Given the description of an element on the screen output the (x, y) to click on. 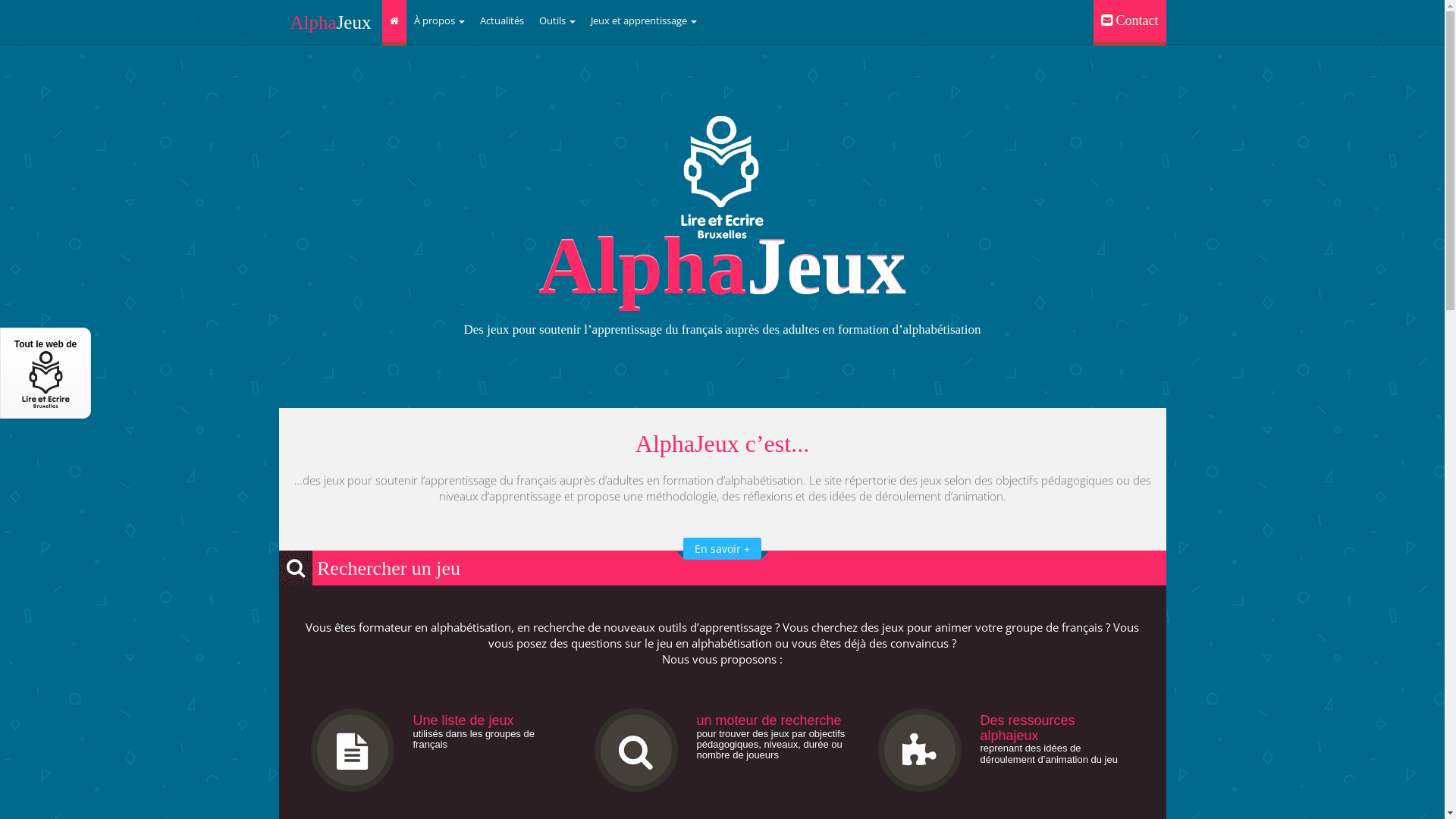
Accueil Element type: hover (394, 22)
Contact Element type: text (1129, 22)
En savoir + Element type: text (722, 548)
Tout le web de Element type: text (45, 372)
AlphaJeux Element type: text (330, 20)
Outils Element type: text (557, 20)
Jeux et apprentissage Element type: text (643, 20)
Rechercher un jeu Element type: text (370, 568)
